Given the description of an element on the screen output the (x, y) to click on. 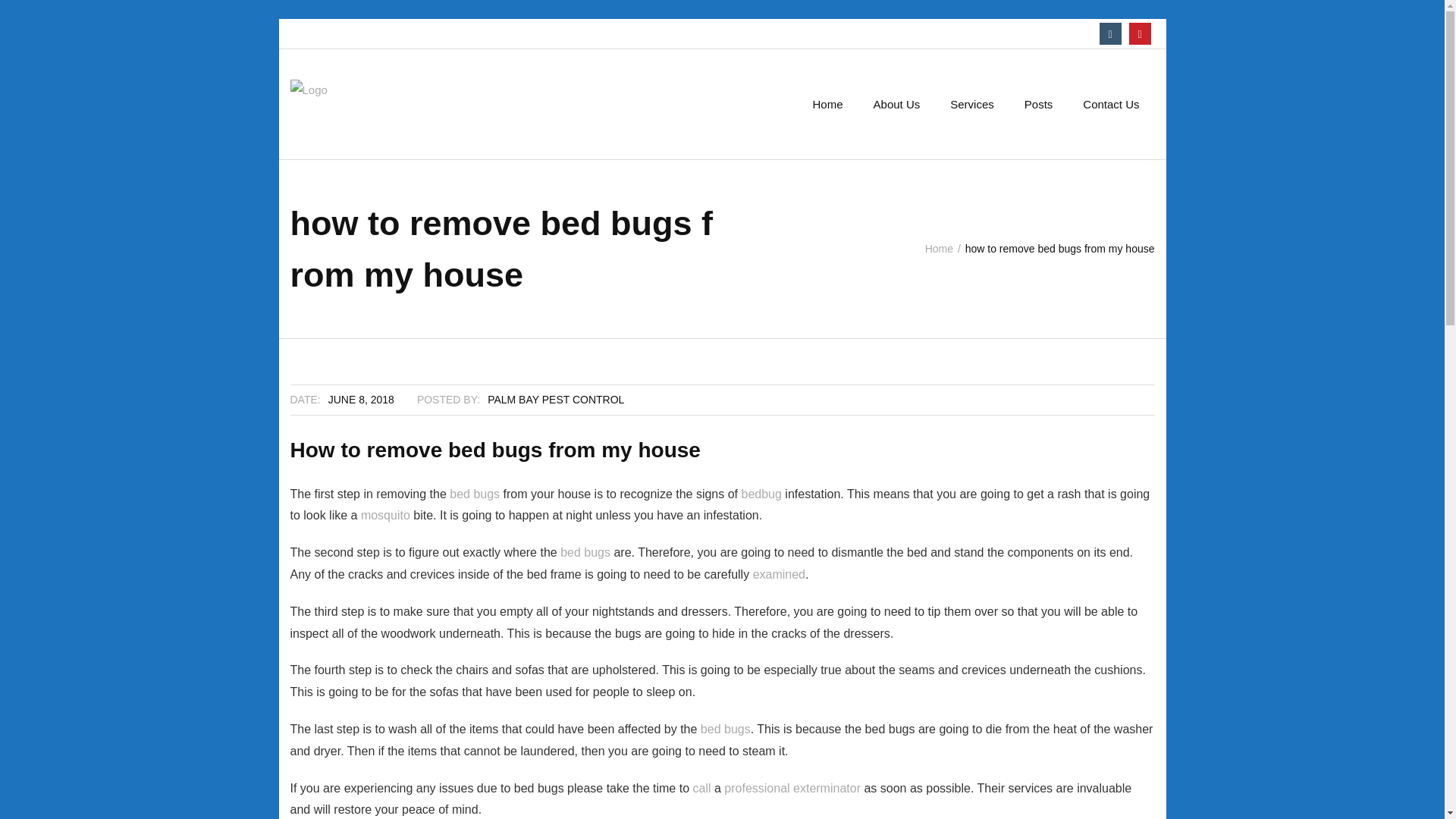
bedbug (761, 493)
how to remove bed bugs from my house (361, 399)
bed bugs (725, 728)
bed bugs (474, 493)
Home (938, 248)
JUNE 8, 2018 (361, 399)
View all posts by Palm Bay Pest Control (555, 399)
PALM BAY PEST CONTROL (555, 399)
mosquito (385, 514)
bed bugs (583, 552)
